Given the description of an element on the screen output the (x, y) to click on. 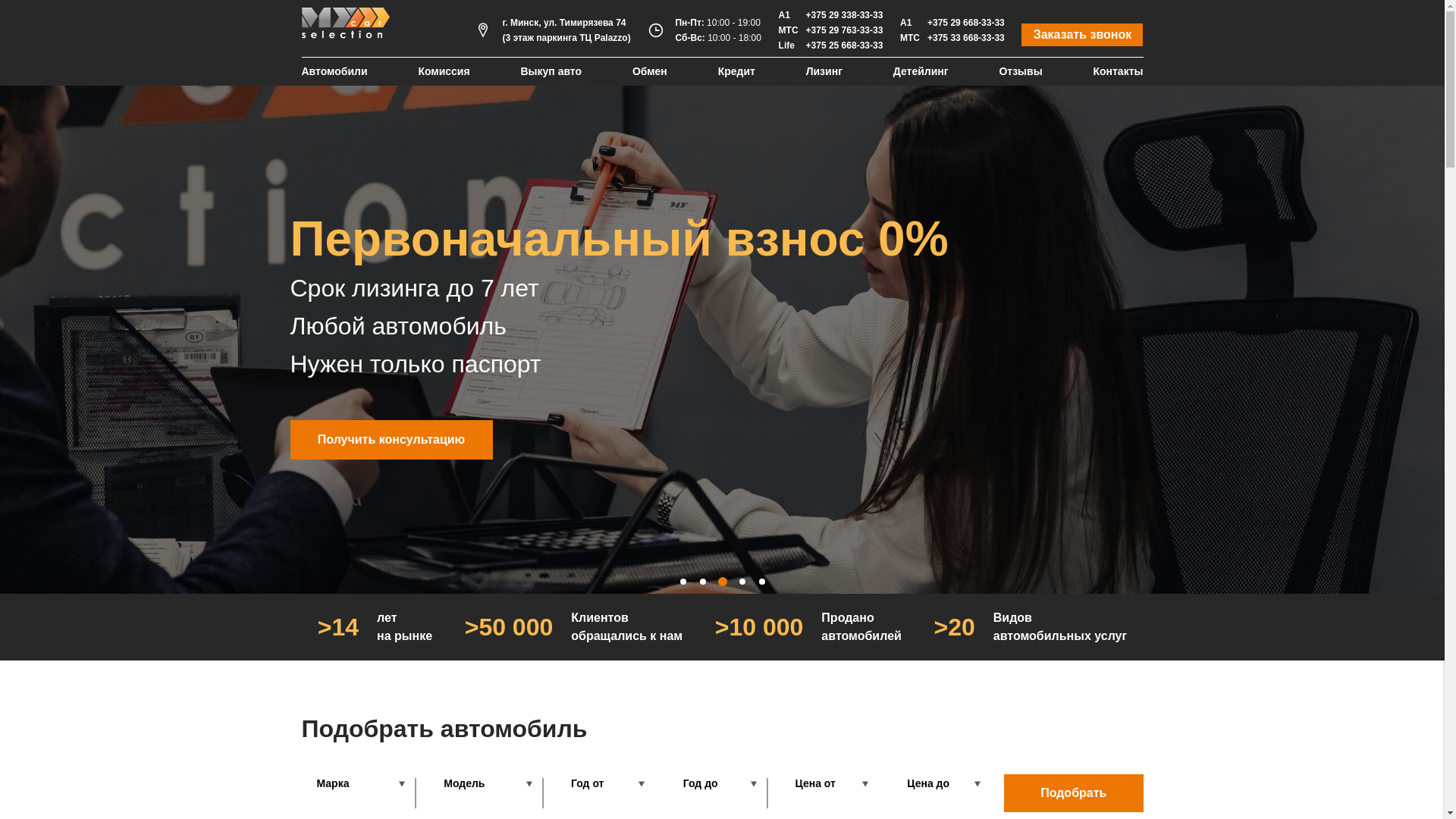
+375 25 668-33-33 Element type: text (844, 45)
+375 29 668-33-33 Element type: text (965, 22)
+375 33 668-33-33 Element type: text (965, 37)
+375 29 763-33-33 Element type: text (844, 29)
+375 29 338-33-33 Element type: text (844, 14)
